Given the description of an element on the screen output the (x, y) to click on. 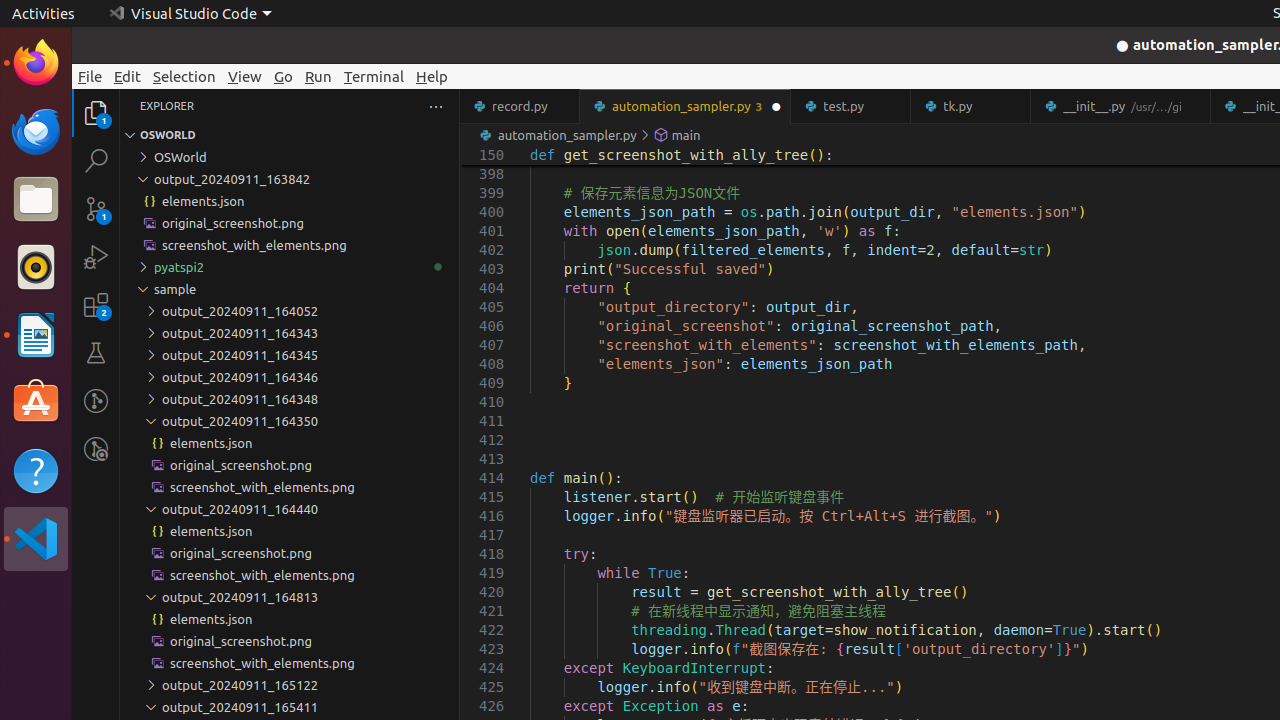
GitLens Inspect Element type: page-tab (96, 449)
Run Element type: push-button (318, 76)
pyatspi2 Element type: tree-item (289, 267)
